Given the description of an element on the screen output the (x, y) to click on. 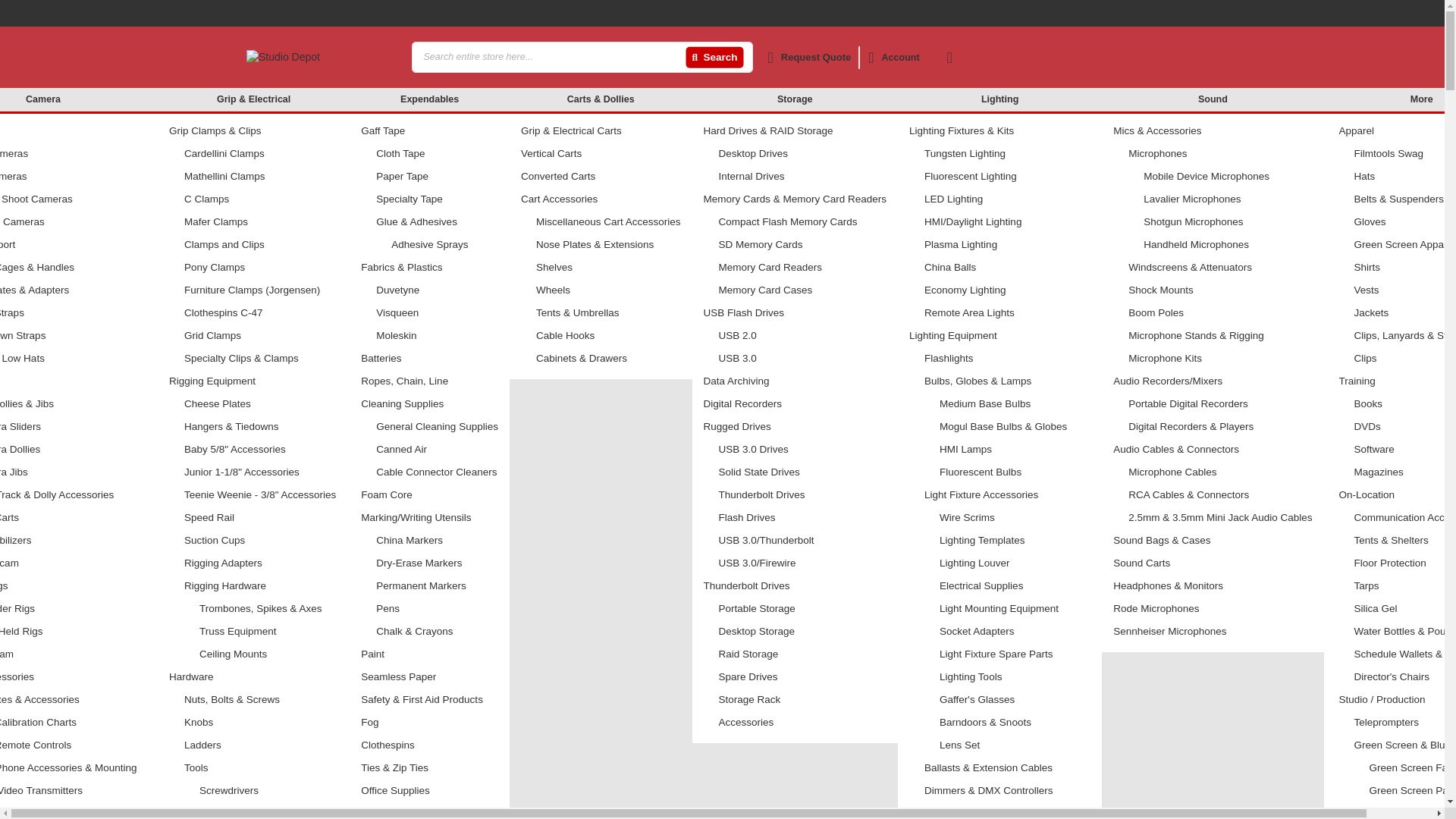
Customer Service (286, 12)
Camera Jibs (74, 471)
Search (713, 57)
Video Stabilizers (74, 539)
Studio Depot (321, 57)
DSLR Cameras (74, 176)
Tie Down Straps (74, 334)
Camera Carts (74, 517)
Camera Straps (74, 312)
Fig Rigs (74, 585)
Cameras (74, 130)
Request Quote (809, 56)
Search (713, 57)
My Wish Lists (369, 12)
Camera Sliders (74, 425)
